Given the description of an element on the screen output the (x, y) to click on. 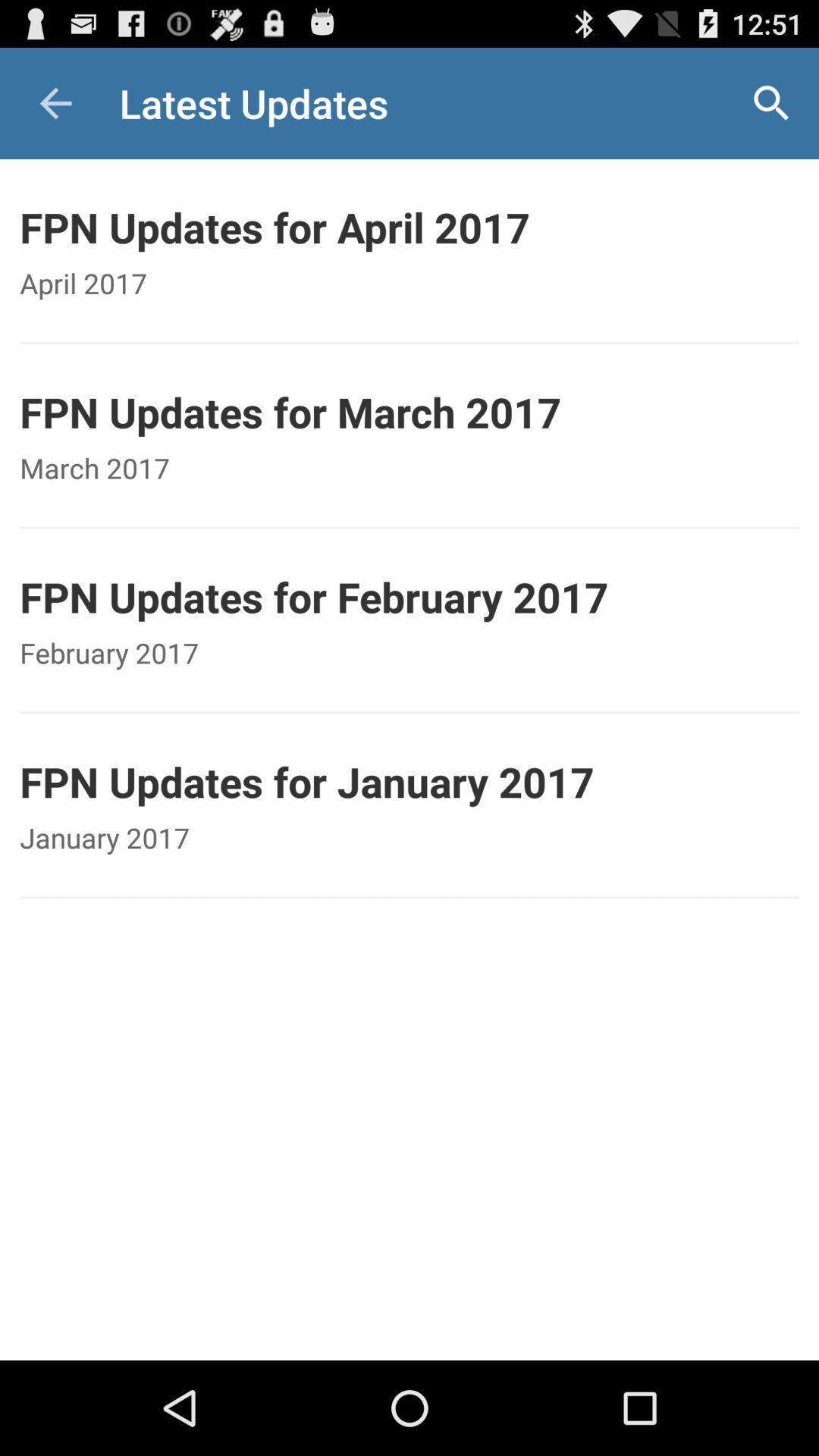
press the item above fpn updates for item (55, 103)
